Given the description of an element on the screen output the (x, y) to click on. 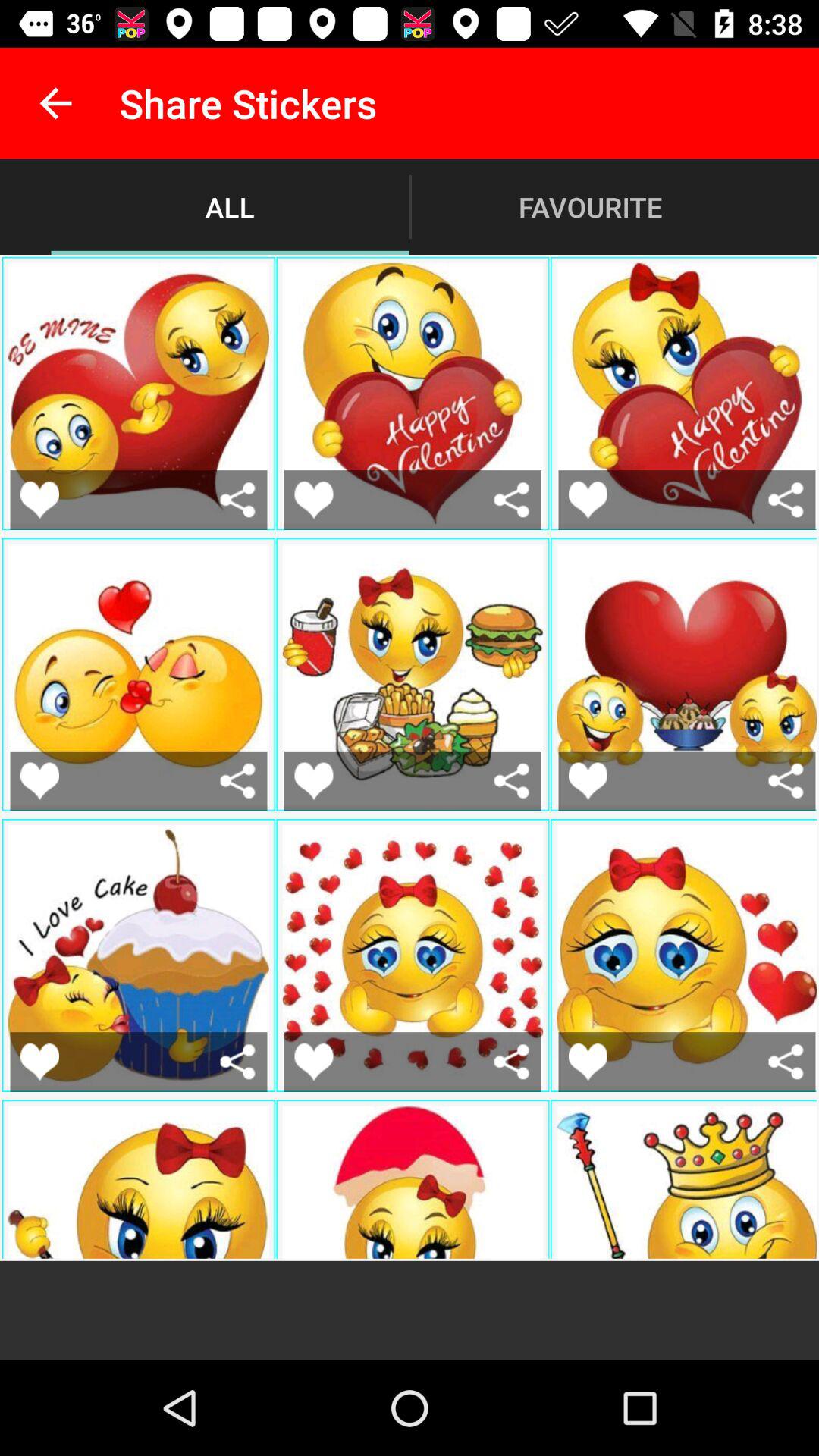
share this sticker (785, 499)
